Given the description of an element on the screen output the (x, y) to click on. 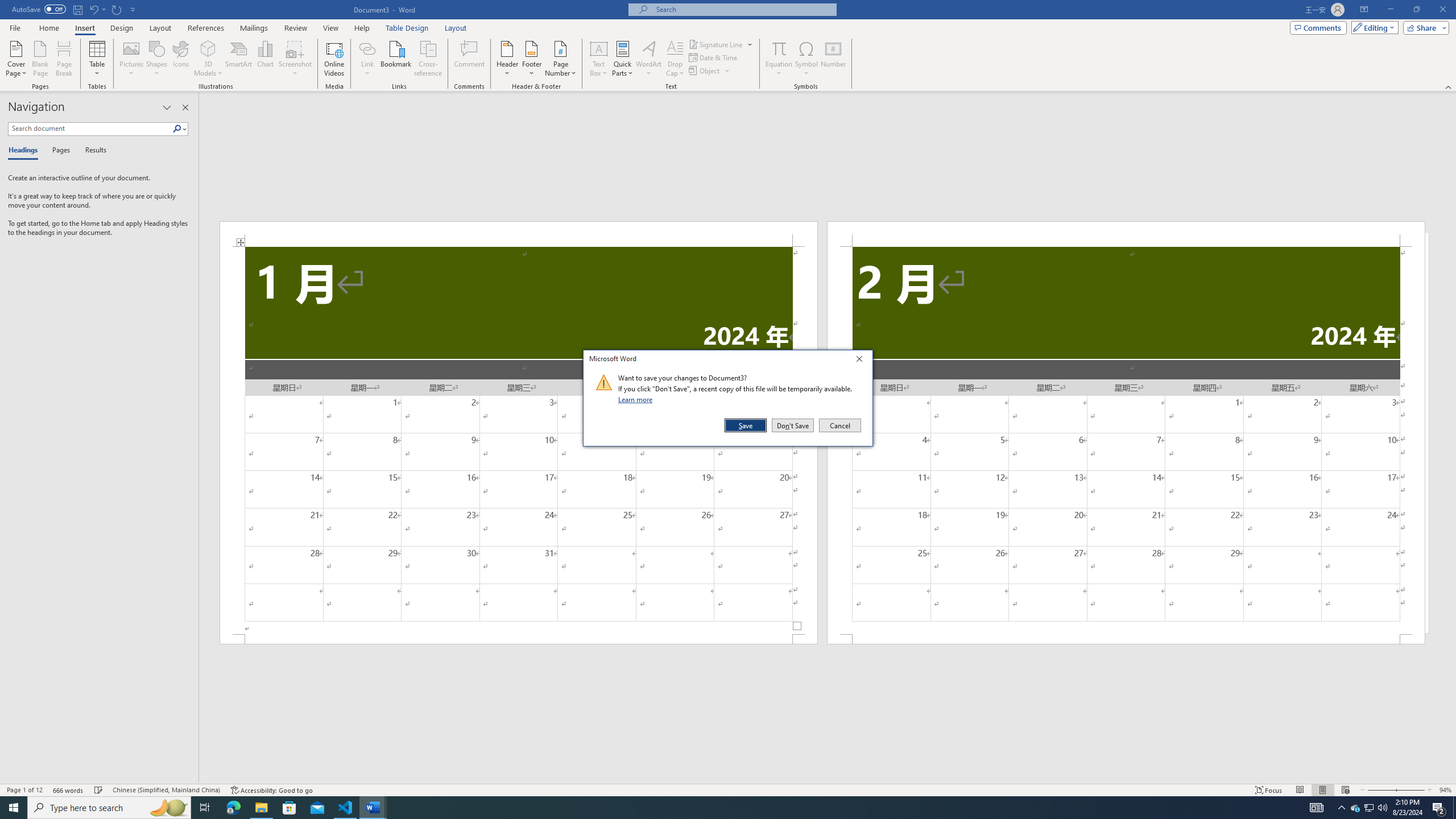
Page Number Page 1 of 12 (24, 790)
Screenshot (295, 58)
3D Models (208, 48)
Word - 2 running windows (373, 807)
Word Count 666 words (68, 790)
